Given the description of an element on the screen output the (x, y) to click on. 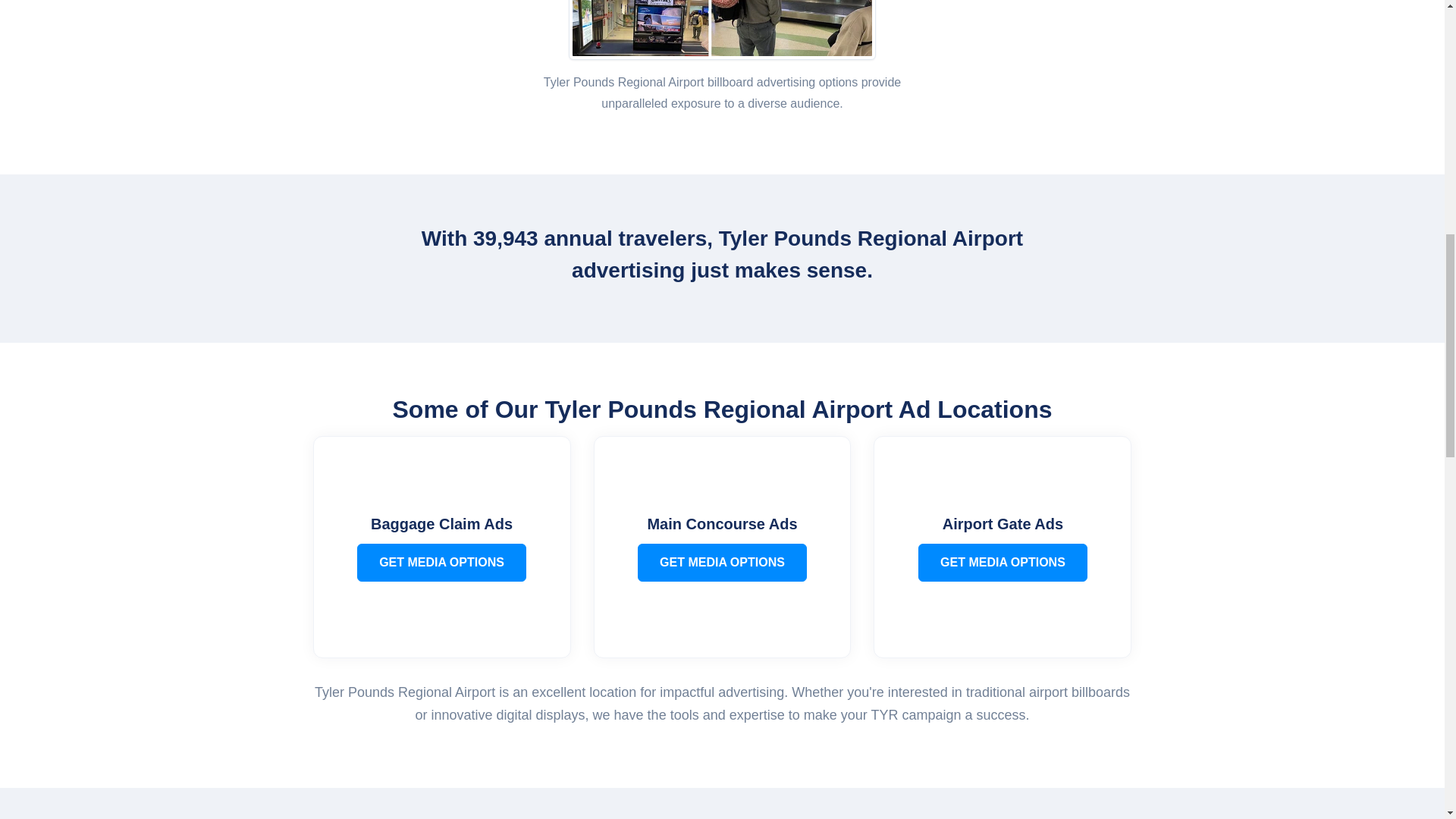
GET MEDIA OPTIONS (440, 562)
GET MEDIA OPTIONS (1002, 562)
GET MEDIA OPTIONS (721, 562)
